Given the description of an element on the screen output the (x, y) to click on. 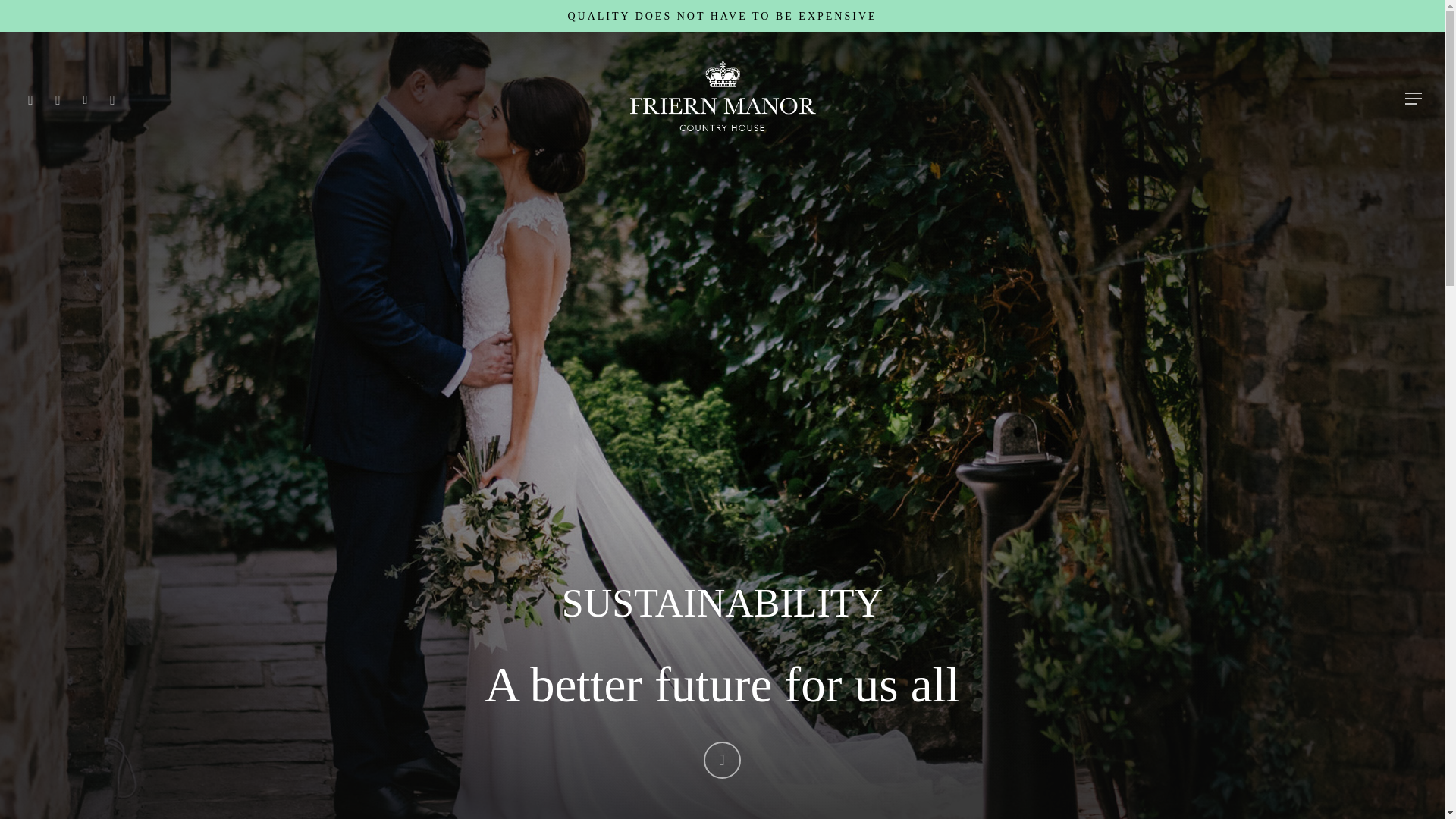
EMAIL (114, 98)
FACEBOOK (31, 98)
Menu (1410, 7)
Menu (1414, 98)
TIKTOK (86, 98)
Navigate to the next section (722, 760)
INSTAGRAM (58, 98)
QUALITY DOES NOT HAVE TO BE EXPENSIVE (721, 15)
